Given the description of an element on the screen output the (x, y) to click on. 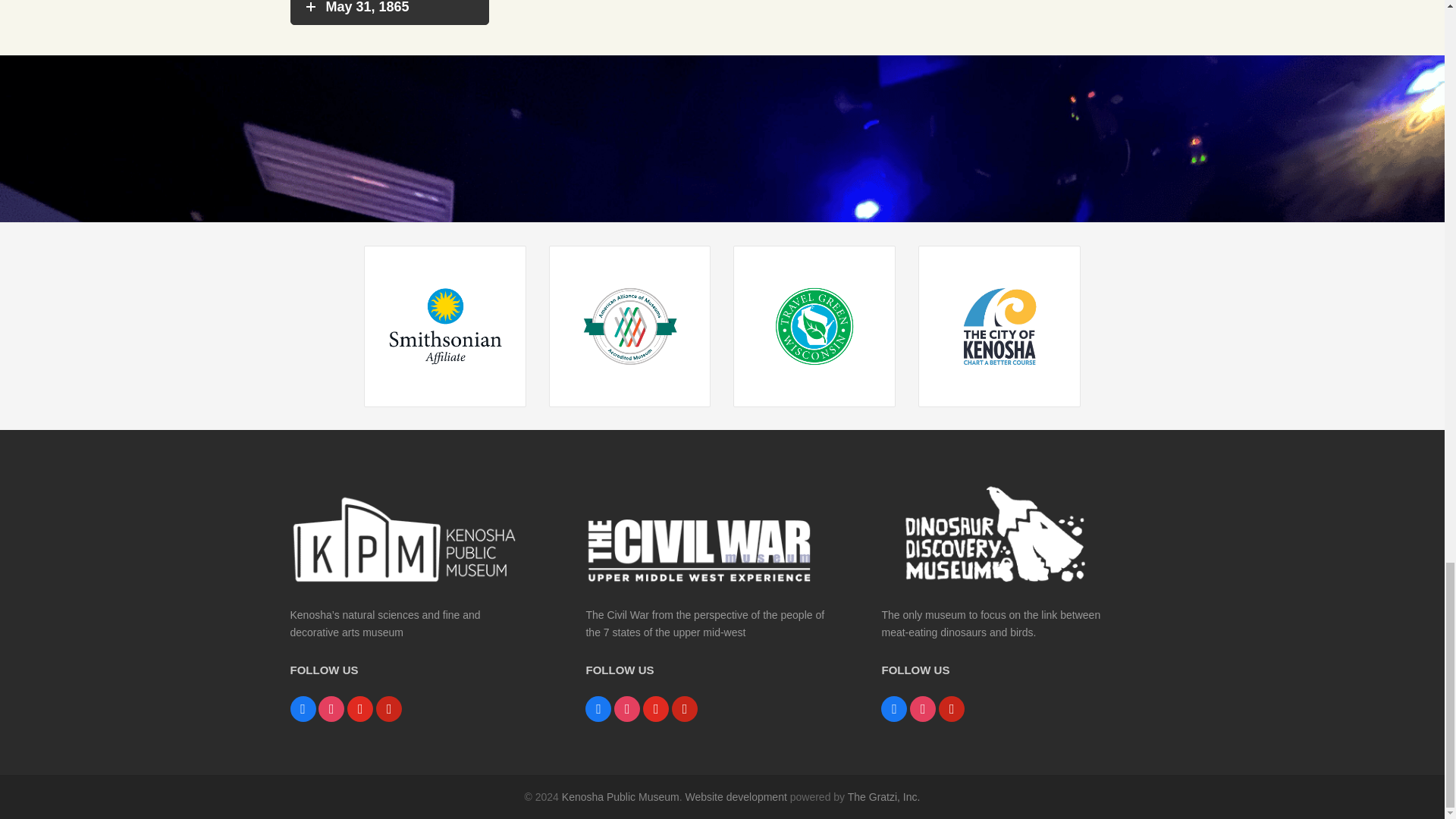
Twitter (655, 707)
Facebook (302, 707)
Instagram (330, 707)
Instagram (627, 707)
Facebook (598, 707)
